Given the description of an element on the screen output the (x, y) to click on. 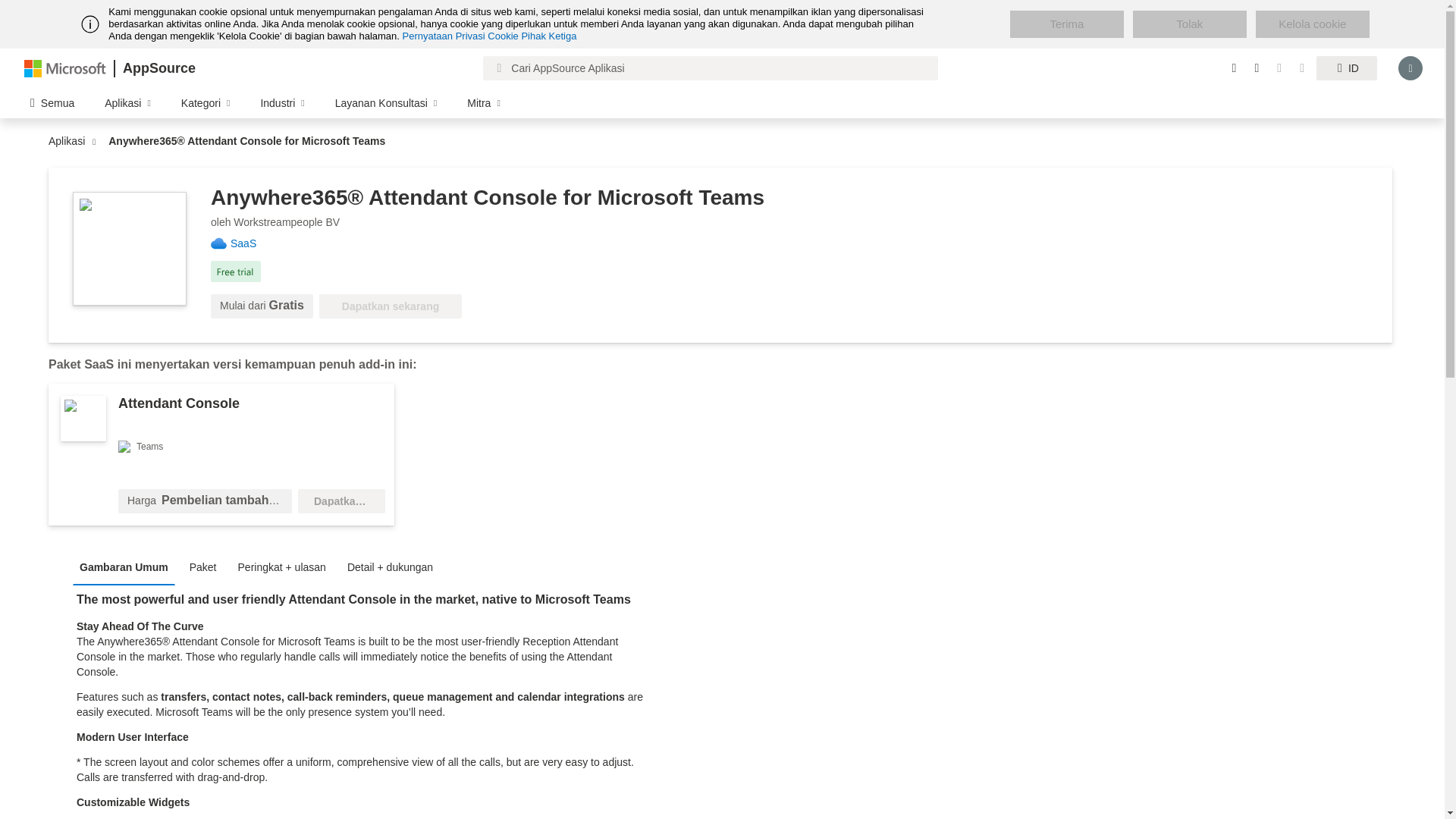
Kelola cookie (1312, 23)
Mulai dari Gratis (261, 305)
Paket (207, 566)
Aplikasi (70, 141)
Pembelian tambahan mungkin diperlukan (207, 500)
Dapatkan sekarang (341, 500)
Cookie Pihak Ketiga (531, 35)
Pernyataan Privasi (443, 35)
AppSource (158, 67)
Dapatkan sekarang (341, 500)
Microsoft (65, 67)
Tolak (1189, 23)
SaaS (248, 243)
Dapatkan sekarang (389, 306)
